Given the description of an element on the screen output the (x, y) to click on. 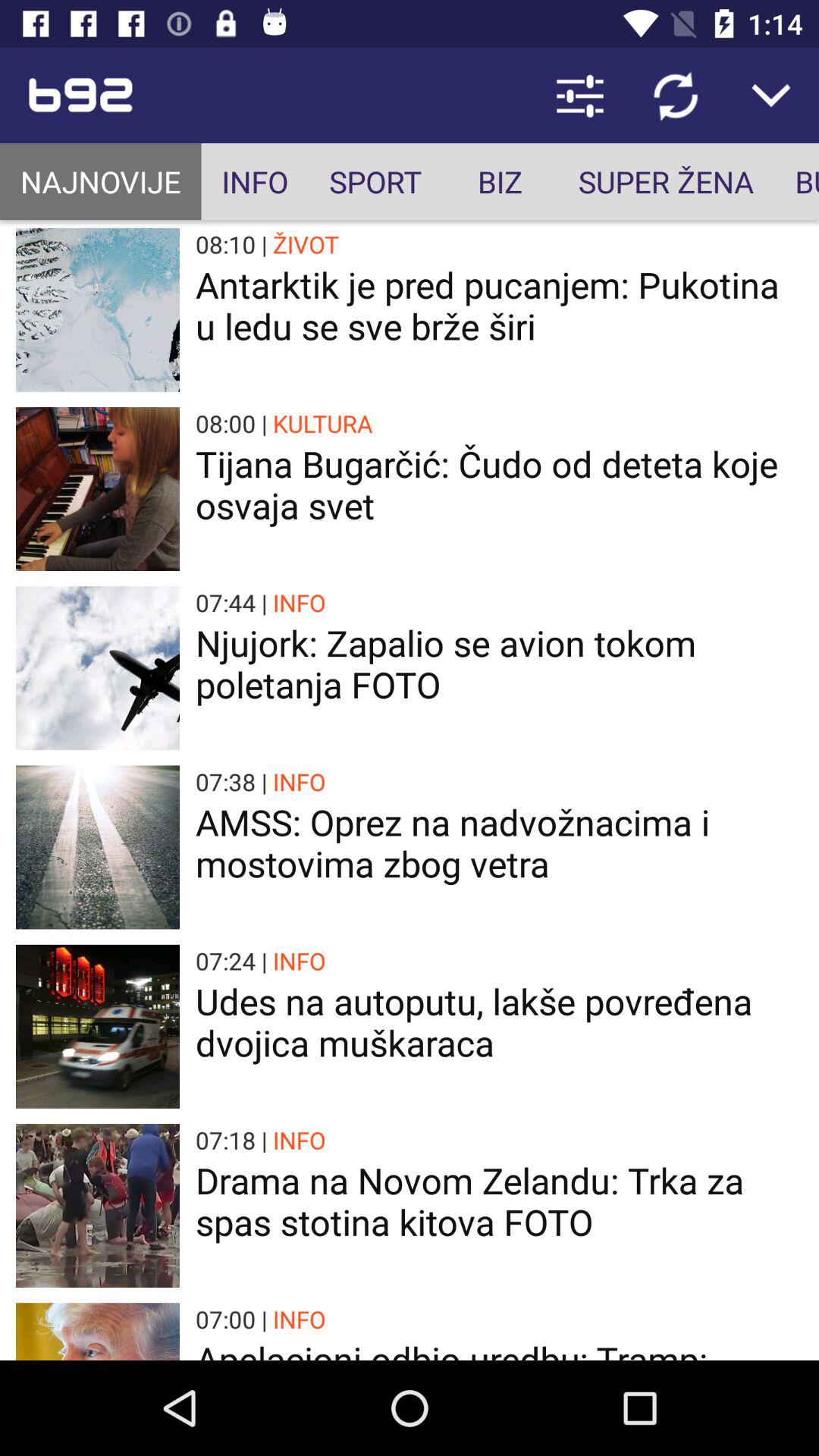
choose the icon above 08:00 |  item (499, 305)
